Given the description of an element on the screen output the (x, y) to click on. 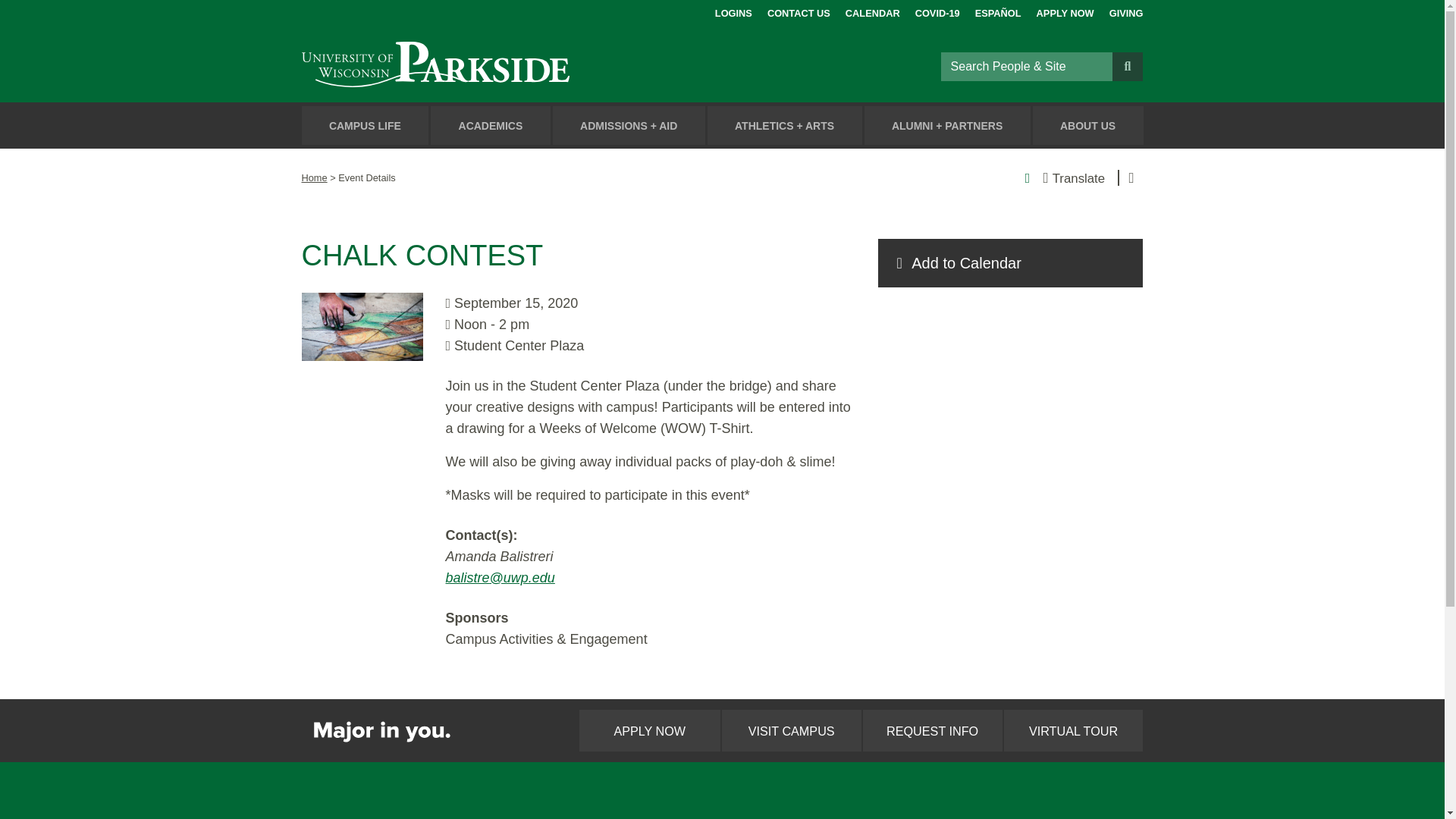
CONTACT US (798, 11)
University of Wisconsin-Parkside (470, 66)
CAMPUS LIFE (365, 125)
APPLY NOW (1065, 11)
CALENDAR (872, 11)
LOGINS (733, 11)
Submit (1127, 65)
Download as .ics (1009, 263)
University of Wisconsin-Parkside (470, 66)
GIVING (1125, 11)
COVID-19 (937, 11)
Skip to main content (18, 14)
